Given the description of an element on the screen output the (x, y) to click on. 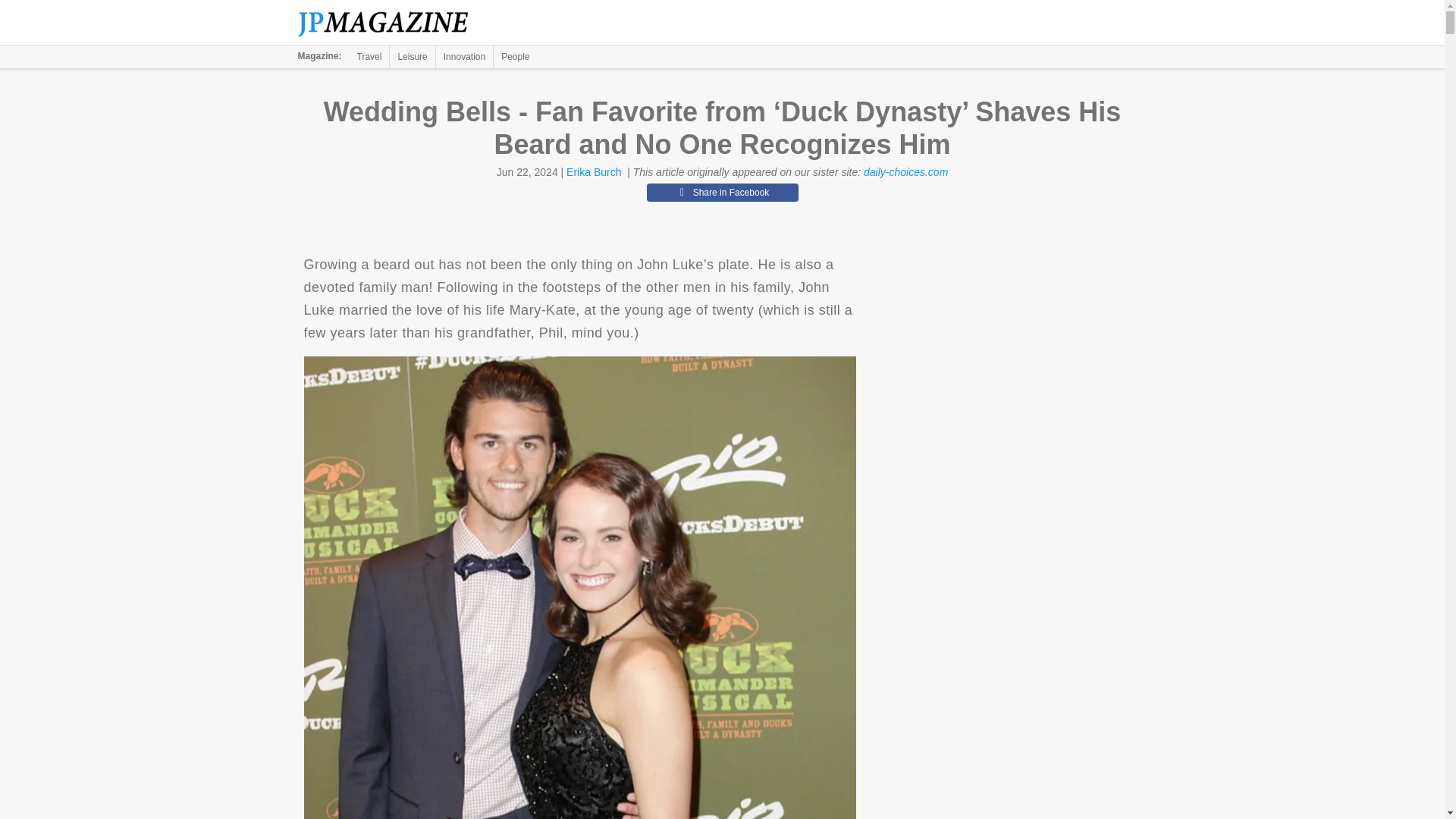
Travel (369, 56)
Leisure (411, 56)
Share in Facebook (721, 192)
The Jerusalem Post Magazine (391, 22)
People (515, 56)
daily-choices.com (905, 172)
Erika Burch (593, 172)
Innovation (464, 56)
